Given the description of an element on the screen output the (x, y) to click on. 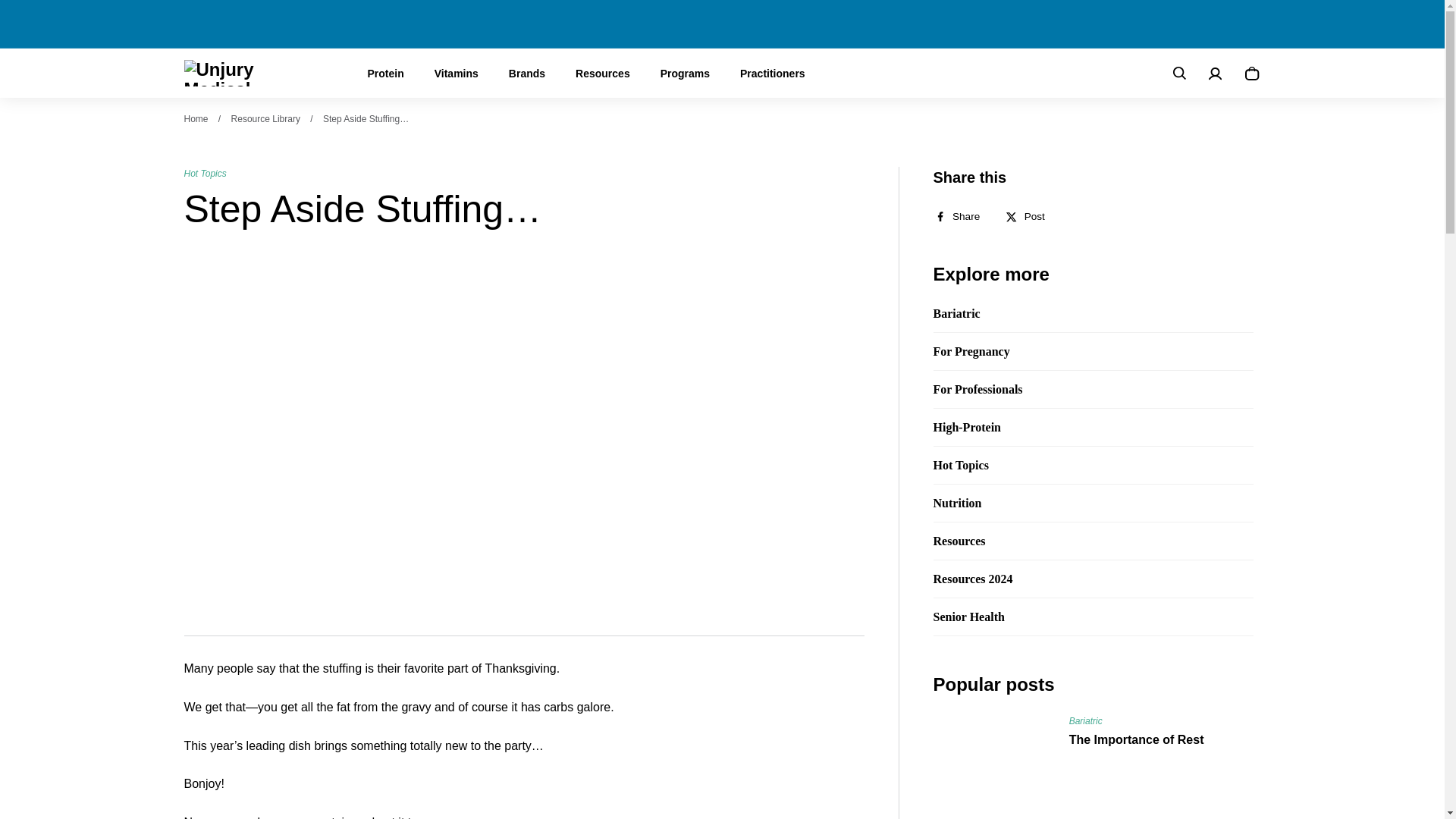
Tweet on Twitter (1030, 216)
Account (1214, 73)
Back to the frontpage (195, 118)
Cart (1251, 73)
Share on Facebook (962, 216)
Search (1178, 73)
